Given the description of an element on the screen output the (x, y) to click on. 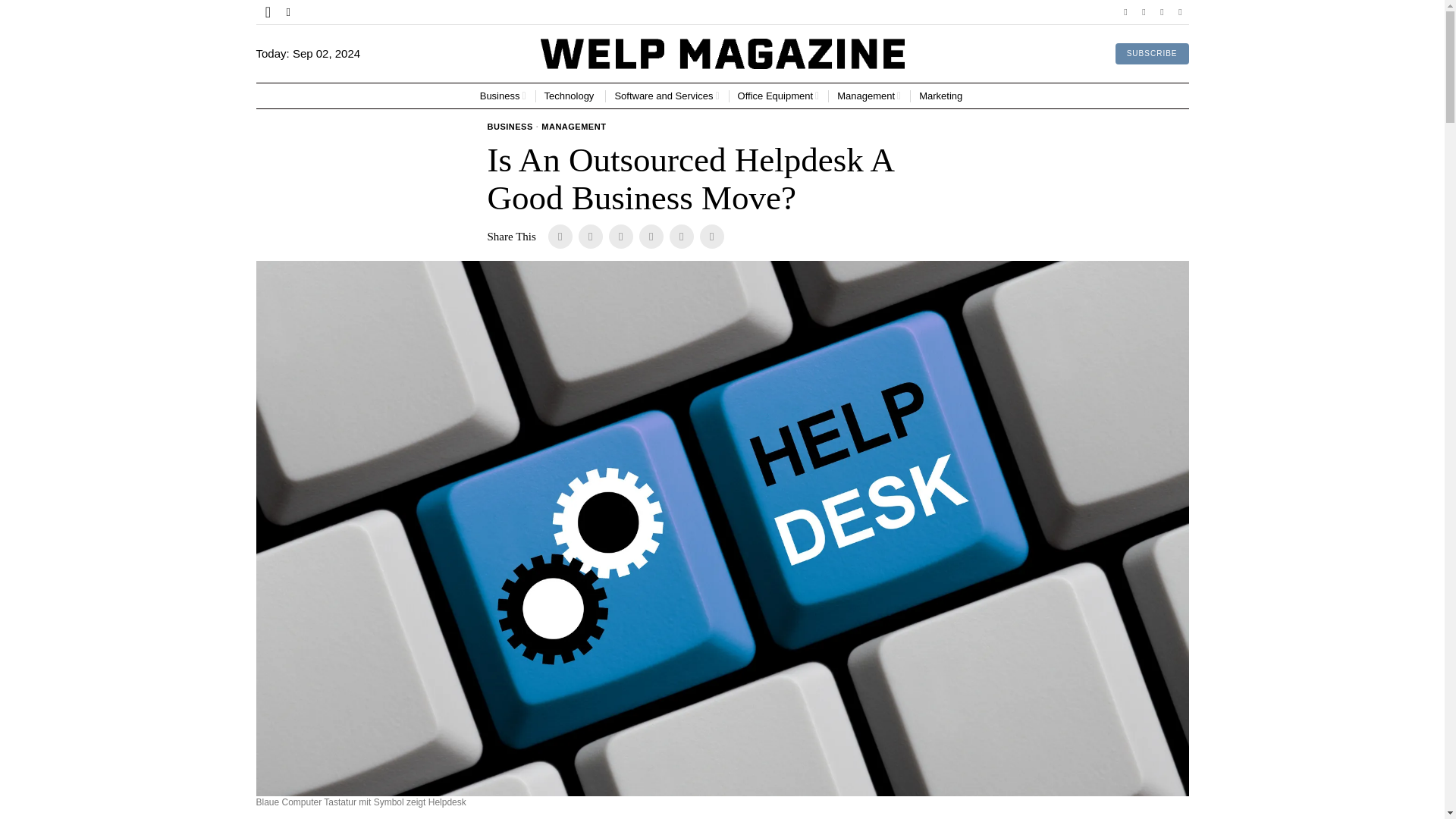
Software and Services (666, 95)
Technology (570, 95)
Office Equipment (778, 95)
MANAGEMENT (573, 127)
Marketing (942, 95)
SUBSCRIBE (1152, 53)
Business (502, 95)
BUSINESS (509, 127)
Management (869, 95)
